Given the description of an element on the screen output the (x, y) to click on. 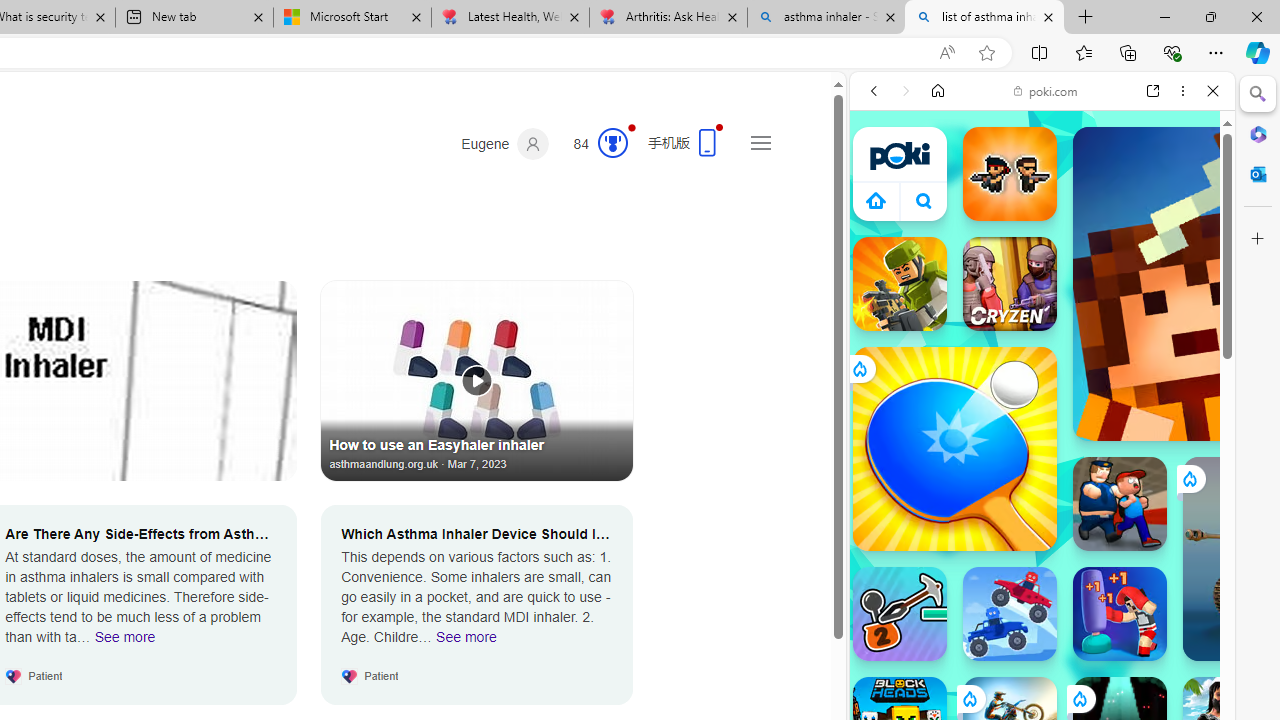
Poki (1034, 288)
This site scope (936, 180)
Poki - Free Online Games - Play Now! (1034, 309)
Show More Shooting Games (1164, 521)
